Given the description of an element on the screen output the (x, y) to click on. 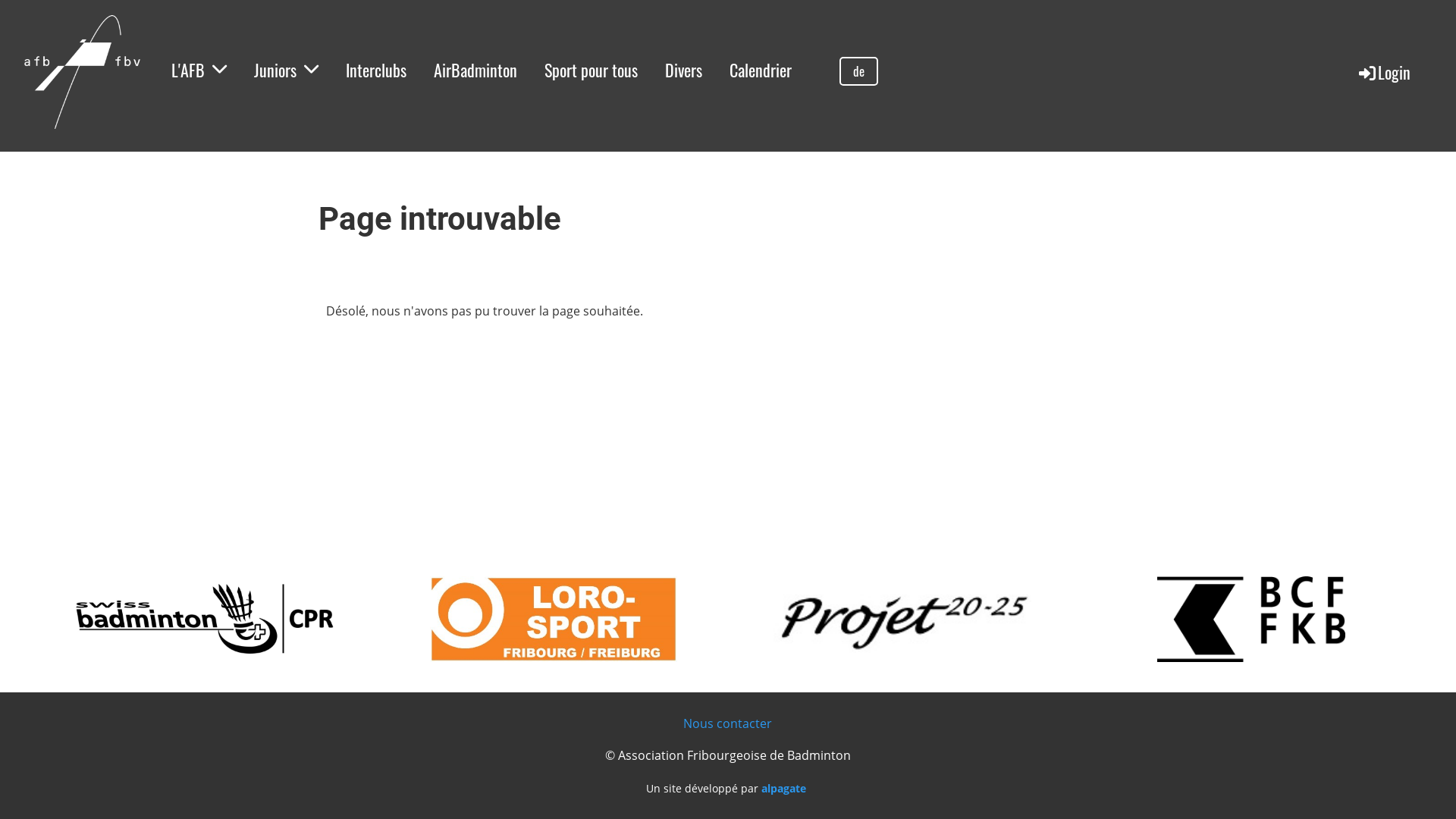
alpagate Element type: text (783, 788)
L'AFB Element type: text (198, 69)
de Element type: text (857, 70)
AirBadminton Element type: text (475, 69)
Login Element type: text (1383, 71)
Calendrier Element type: text (760, 69)
Divers Element type: text (683, 69)
Sport pour tous Element type: text (590, 69)
Juniors Element type: text (285, 69)
Nous contacter Element type: text (727, 723)
Interclubs Element type: text (375, 69)
